Given the description of an element on the screen output the (x, y) to click on. 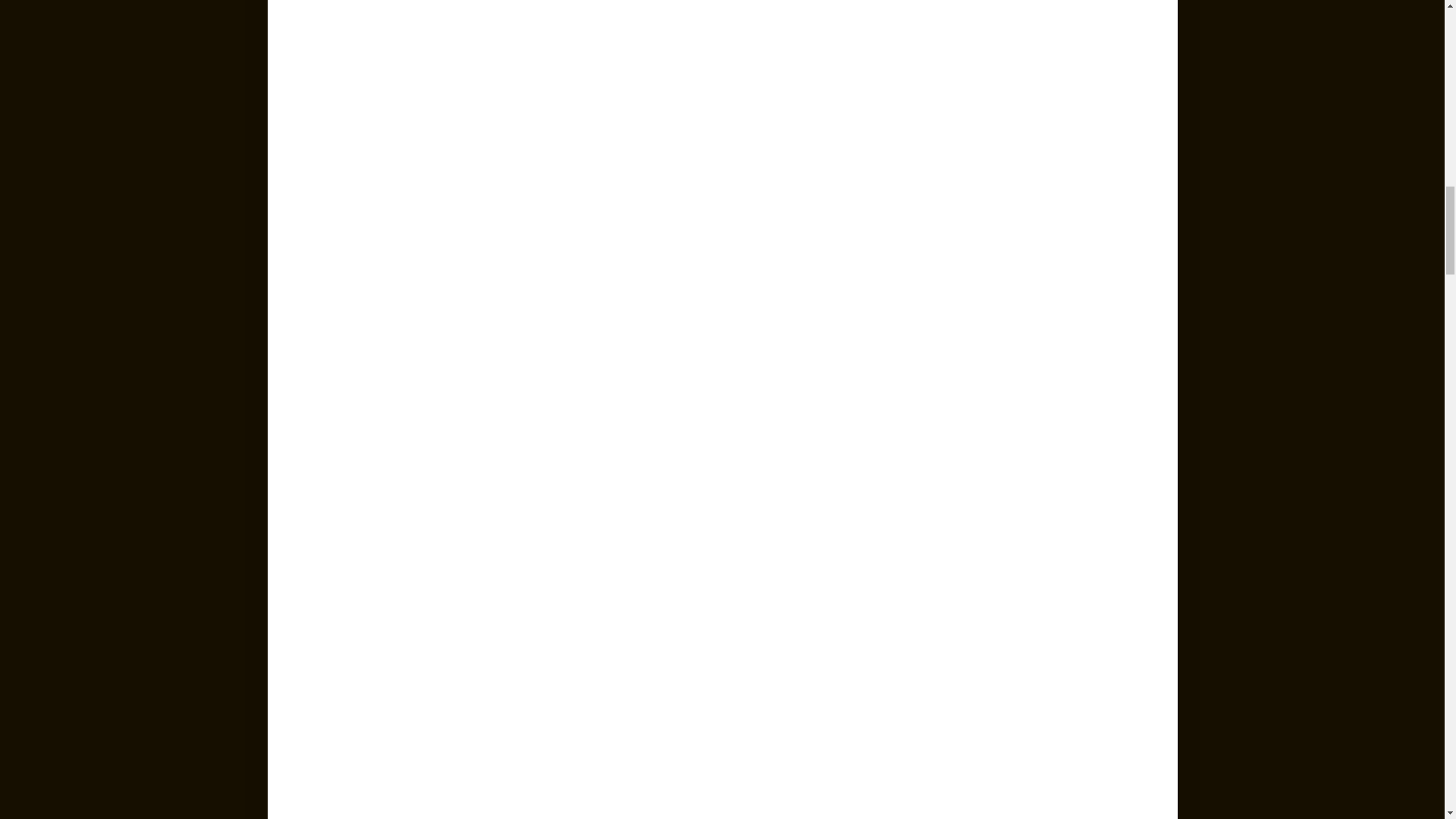
Advertisement (721, 284)
